Given the description of an element on the screen output the (x, y) to click on. 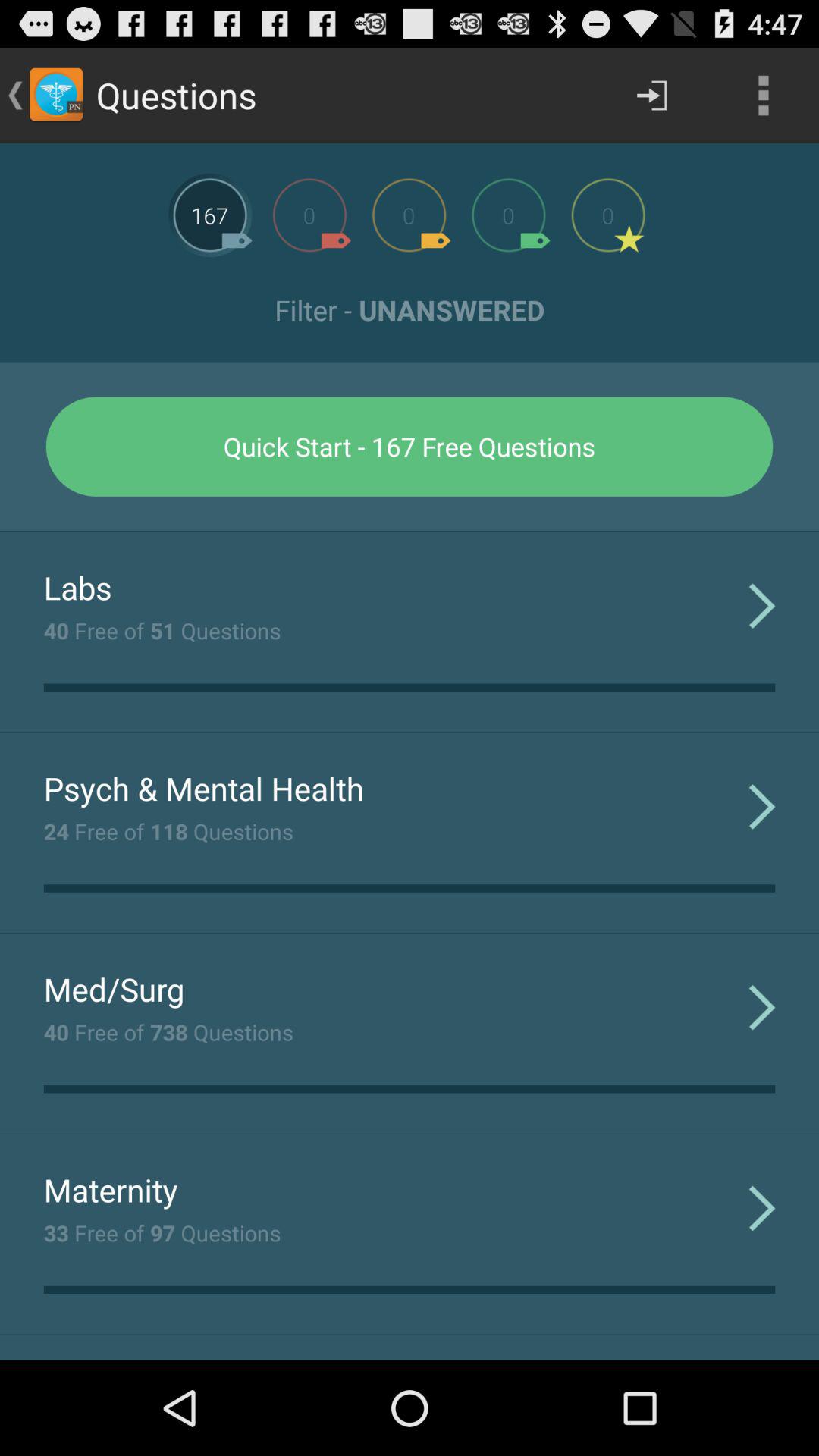
open psych & mental health app (203, 787)
